Given the description of an element on the screen output the (x, y) to click on. 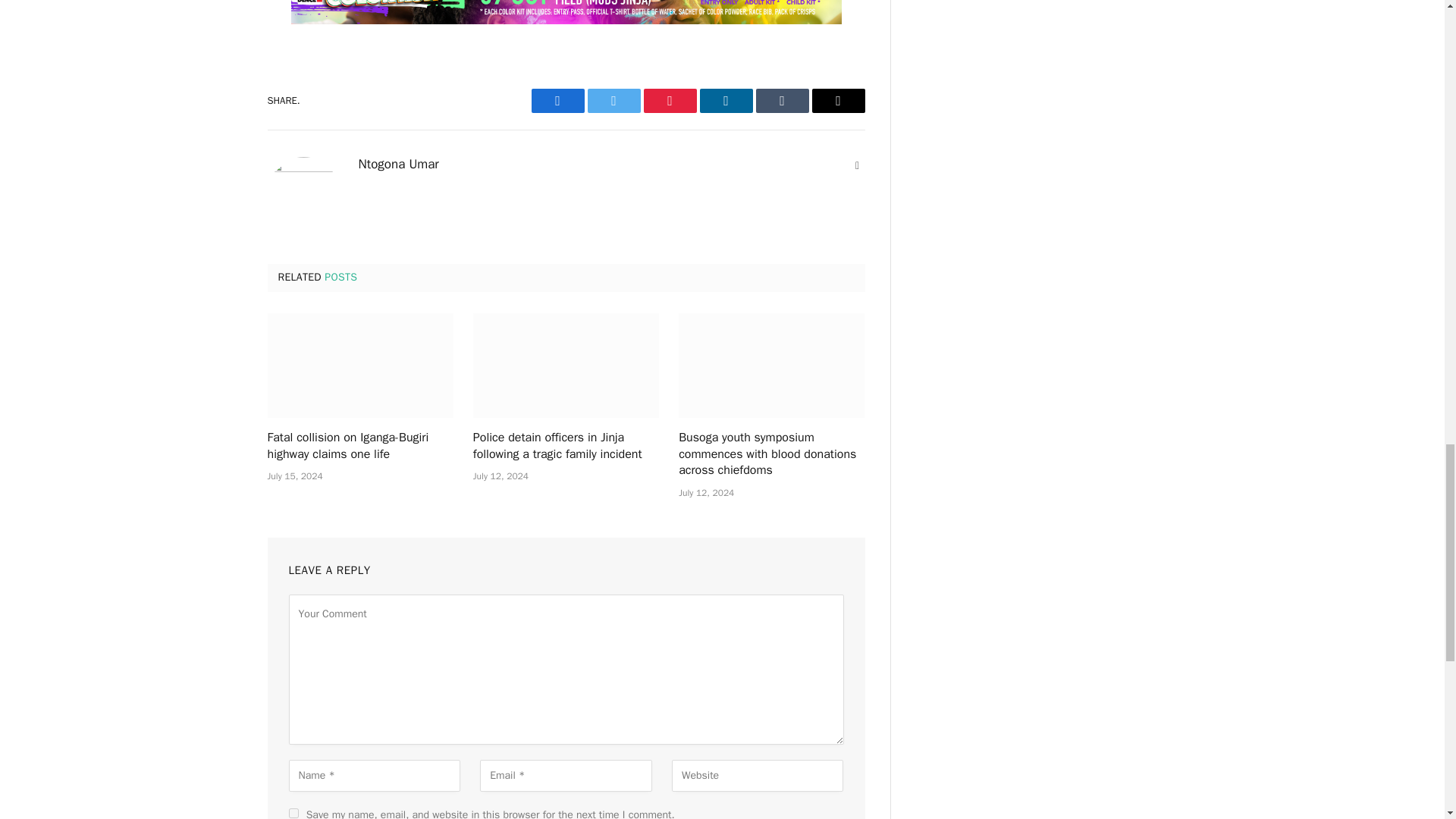
yes (293, 813)
